Given the description of an element on the screen output the (x, y) to click on. 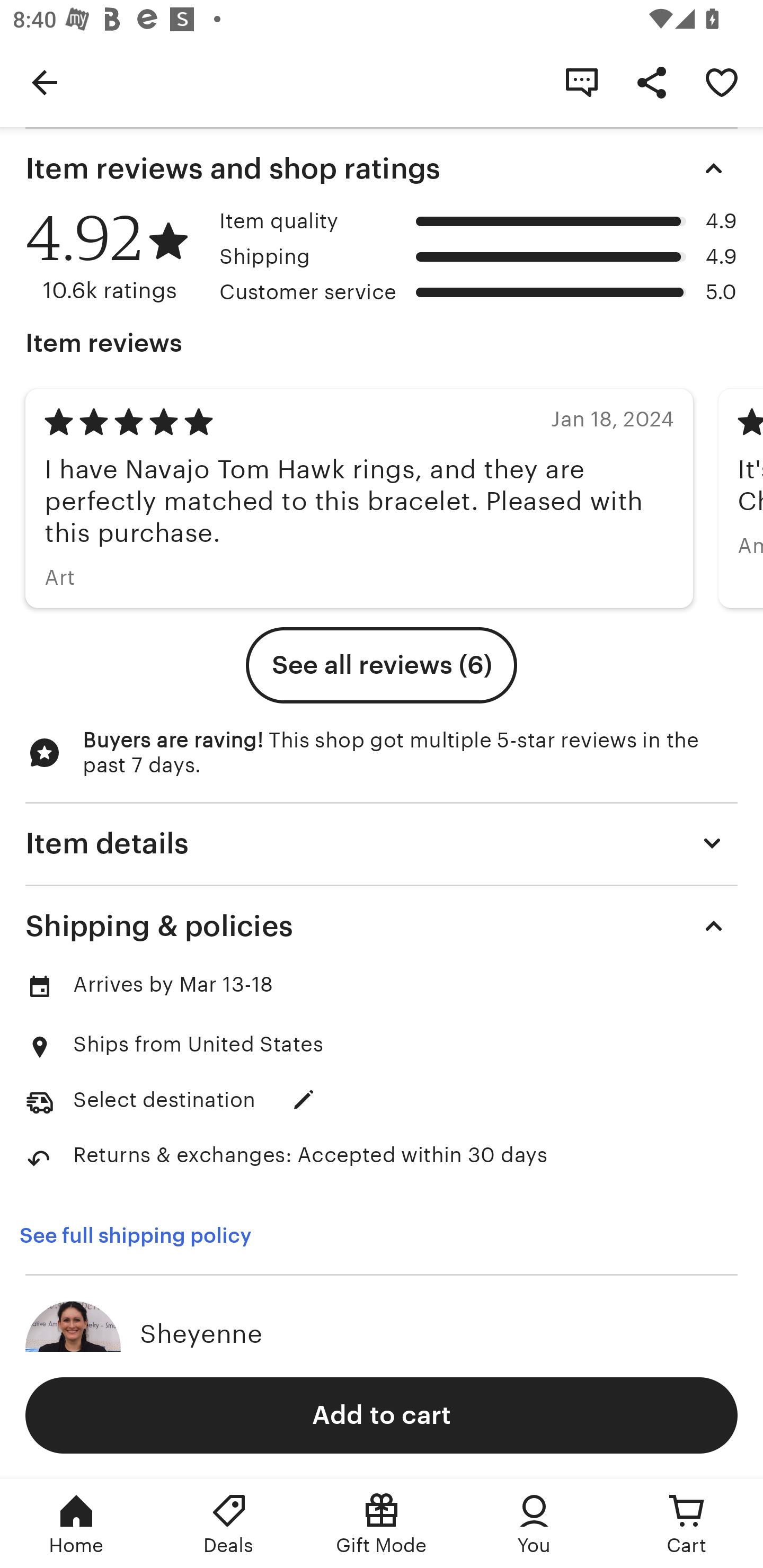
Navigate up (44, 81)
Contact shop (581, 81)
Share (651, 81)
Item reviews and shop ratings (381, 168)
4.92 10.6k ratings (115, 257)
See all reviews (6) (381, 665)
Item details (381, 842)
Shipping & policies (381, 925)
Update (302, 1099)
See full shipping policy (147, 1235)
Add to cart (381, 1414)
Deals (228, 1523)
Gift Mode (381, 1523)
You (533, 1523)
Cart (686, 1523)
